Given the description of an element on the screen output the (x, y) to click on. 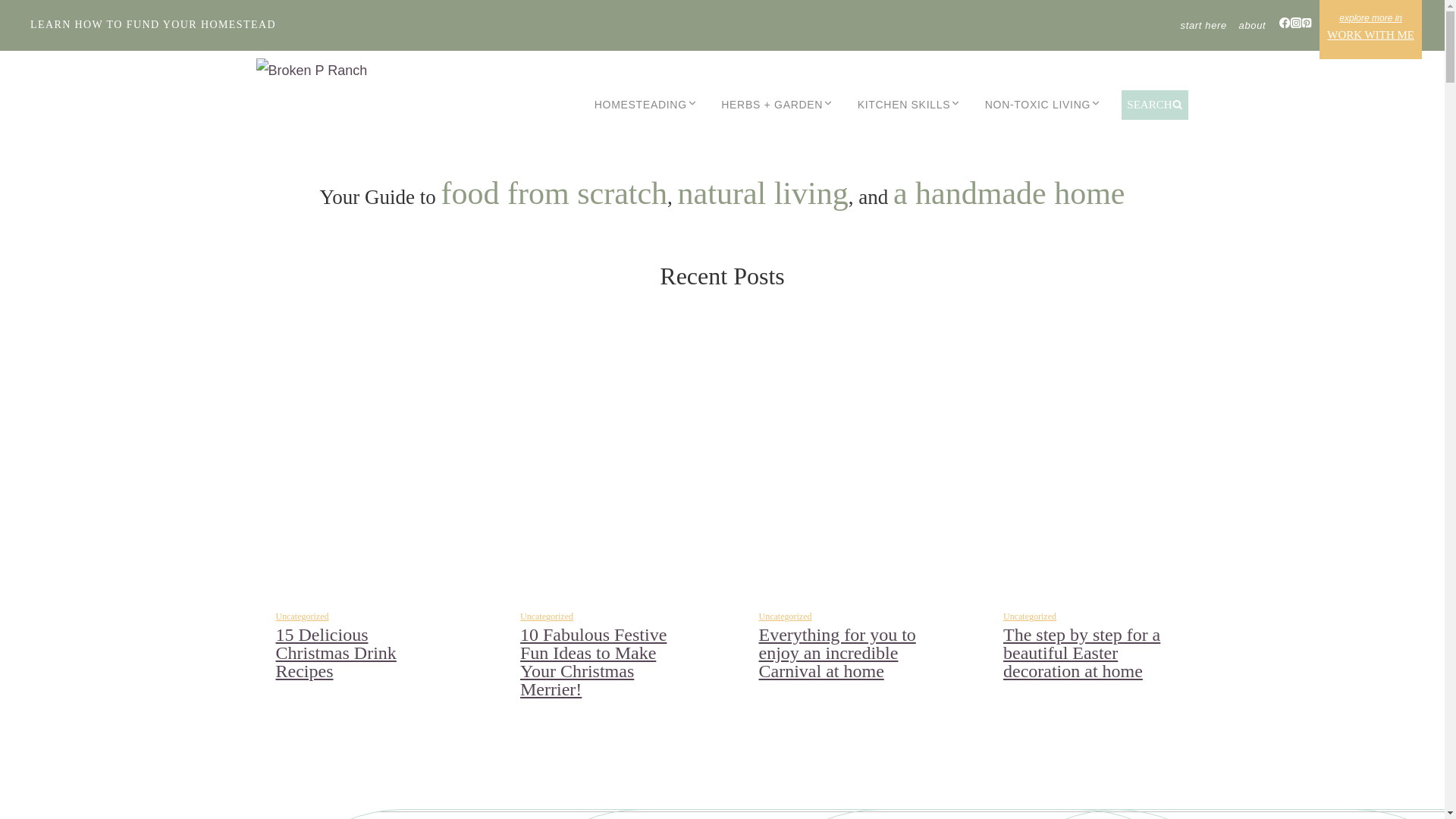
NON-TOXIC LIVING (1042, 105)
about (1252, 25)
LEARN HOW TO FUND YOUR HOMESTEAD (153, 24)
Uncategorized (546, 615)
Everything for you to enjoy an incredible Carnival at home (836, 652)
WORK WITH ME (1370, 29)
HOMESTEADING (645, 105)
Uncategorized (302, 615)
KITCHEN SKILLS (908, 105)
15 Delicious Christmas Drink Recipes (336, 652)
SEARCH (1155, 104)
start here (1203, 25)
Uncategorized (784, 615)
